Given the description of an element on the screen output the (x, y) to click on. 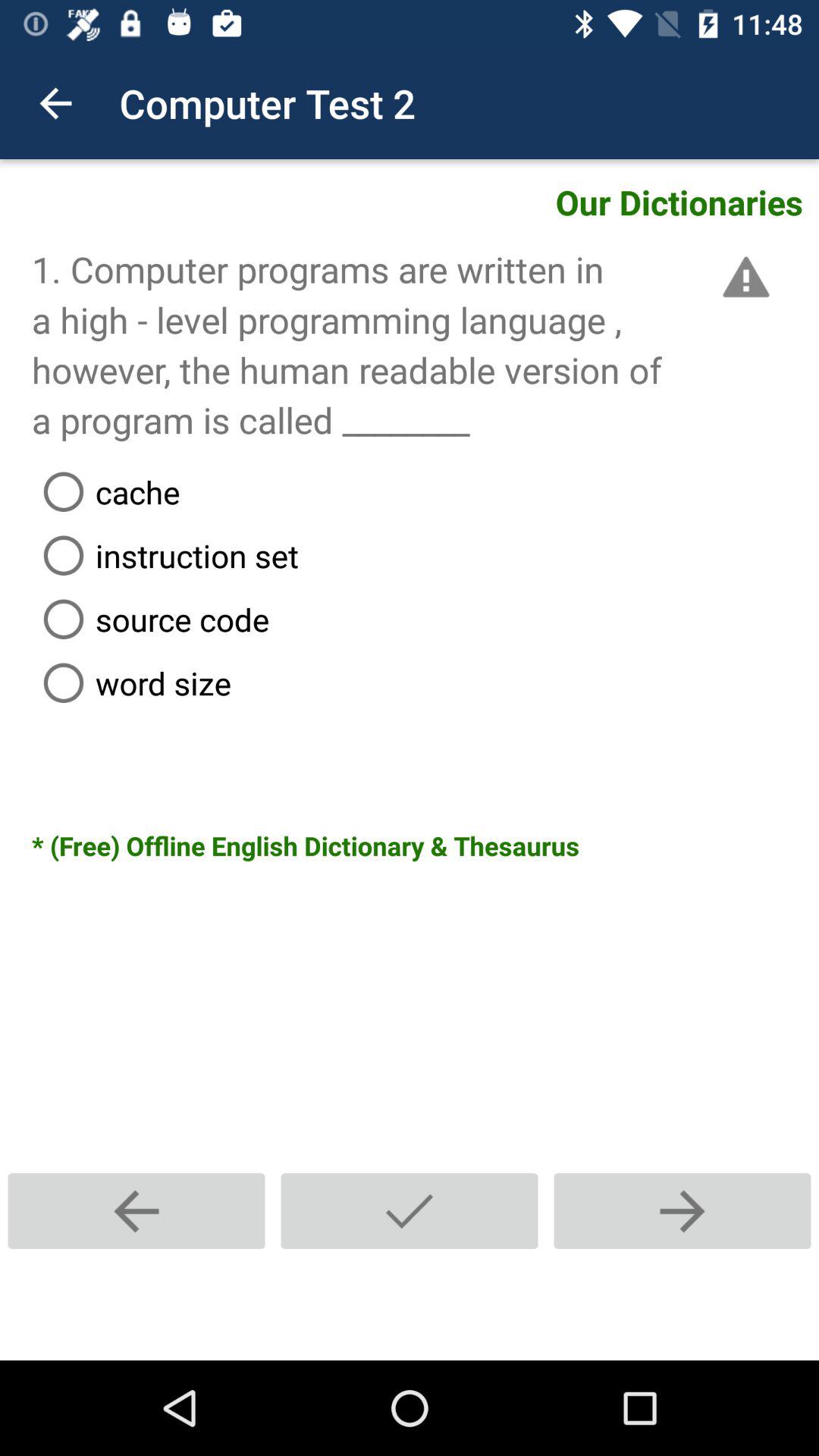
select the item below free offline english icon (136, 1210)
